Given the description of an element on the screen output the (x, y) to click on. 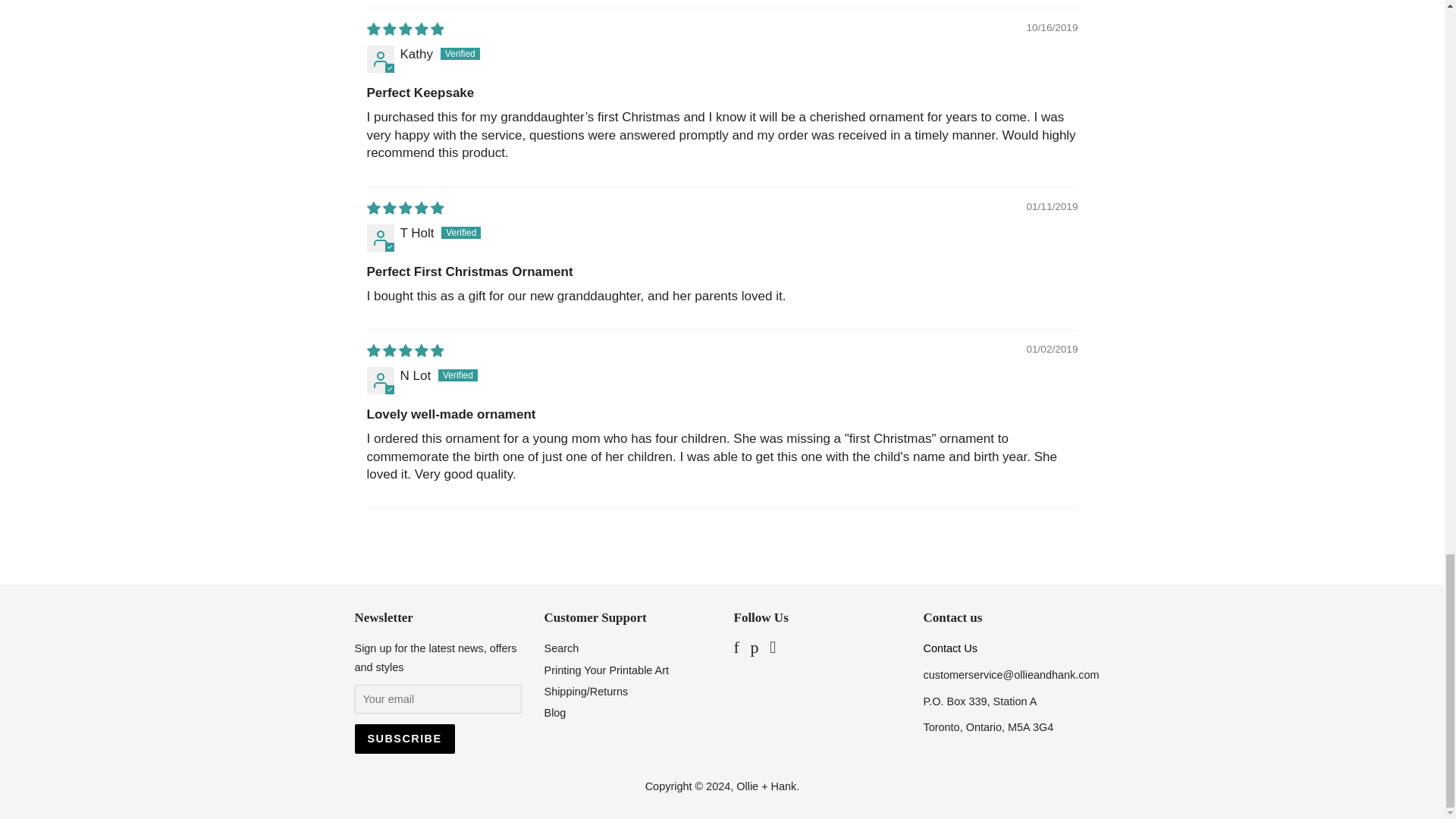
Contact (949, 648)
Subscribe (404, 738)
